Given the description of an element on the screen output the (x, y) to click on. 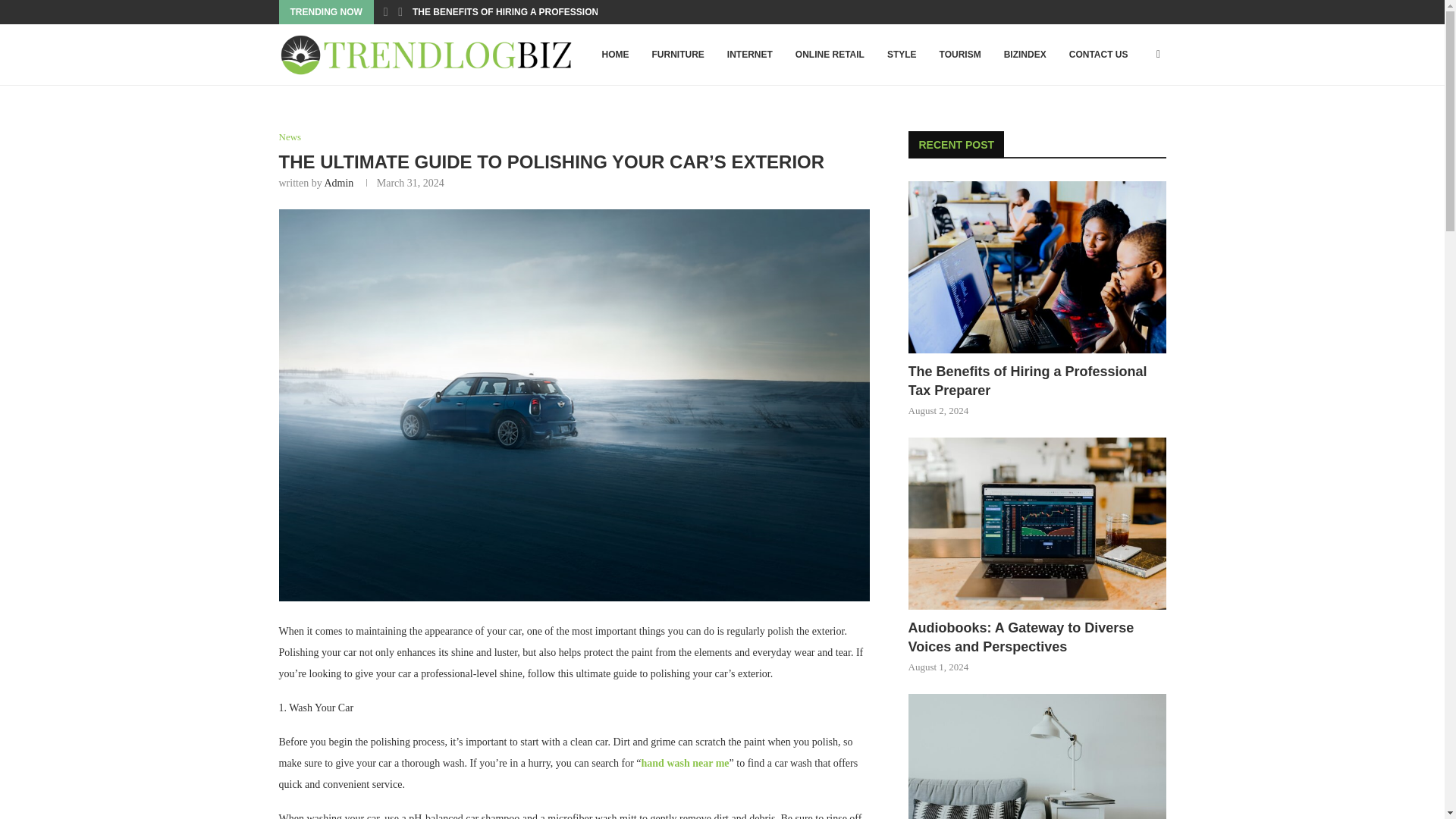
News (290, 137)
THE BENEFITS OF HIRING A PROFESSIONAL TAX PREPARER (547, 12)
TOURISM (960, 54)
The Benefits of Hiring a Professional Tax Preparer (1037, 266)
FURNITURE (677, 54)
ONLINE RETAIL (830, 54)
INTERNET (750, 54)
BIZINDEX (1025, 54)
Admin (338, 183)
hand wash near me (685, 763)
CONTACT US (1099, 54)
The Benefits of Hiring a Professional Tax Preparer (1037, 381)
